Given the description of an element on the screen output the (x, y) to click on. 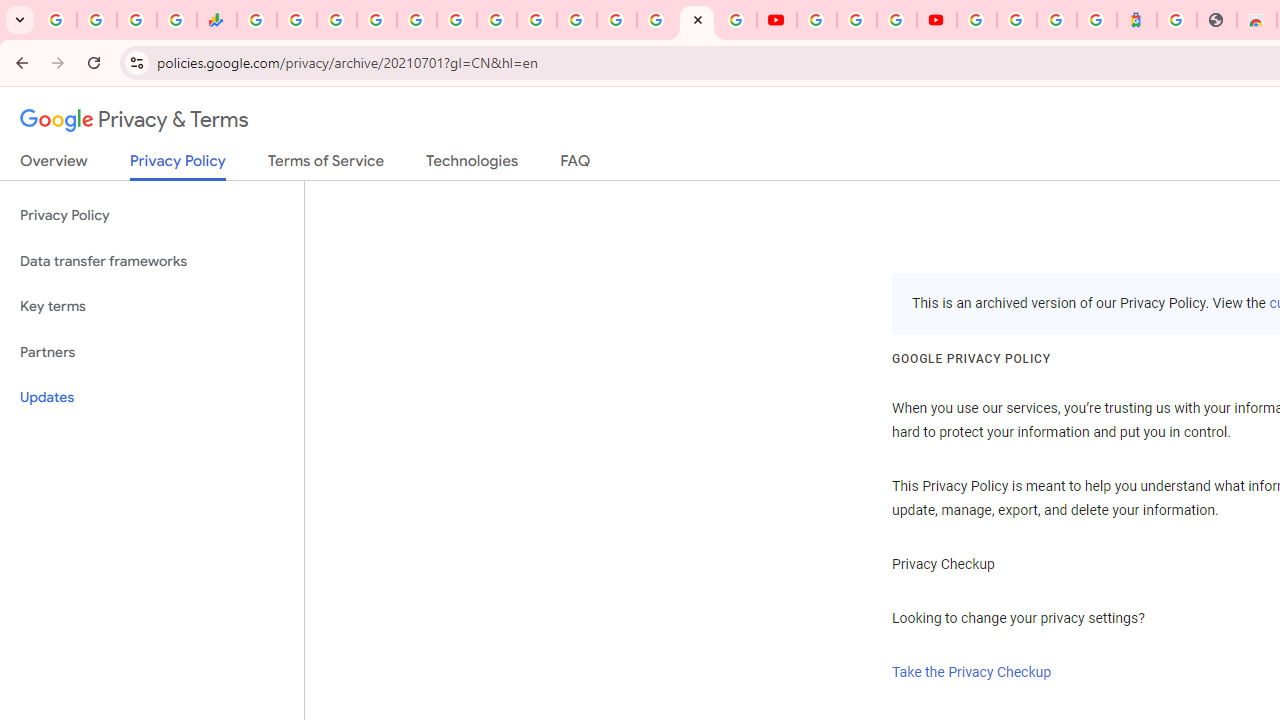
Sign in - Google Accounts (376, 20)
Take the Privacy Checkup (972, 672)
Atour Hotel - Google hotels (1137, 20)
YouTube (536, 20)
Google Account Help (856, 20)
Create your Google Account (896, 20)
